Given the description of an element on the screen output the (x, y) to click on. 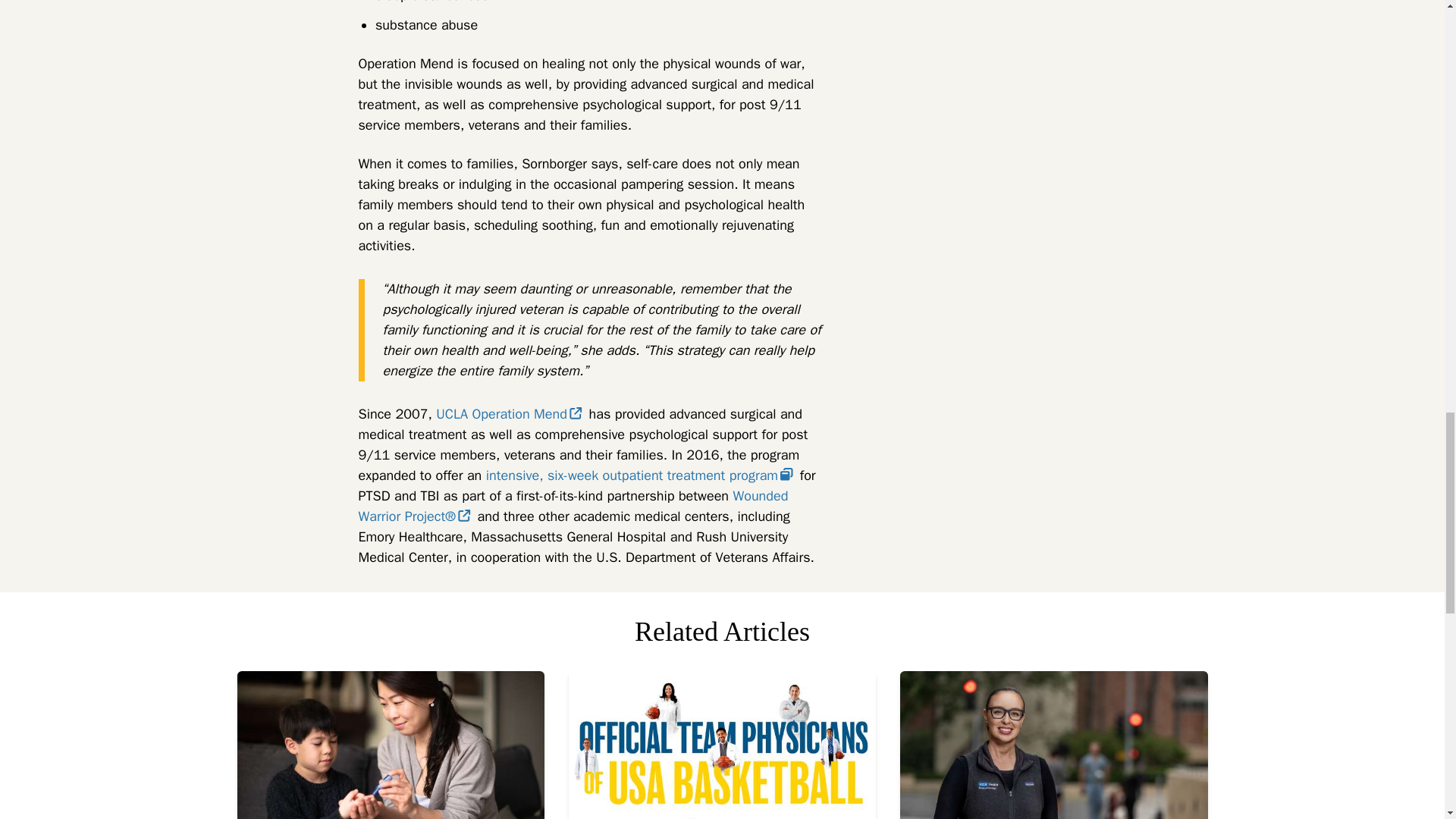
Link opens in new window (786, 473)
Link is external (575, 413)
Link is external (464, 515)
